Given the description of an element on the screen output the (x, y) to click on. 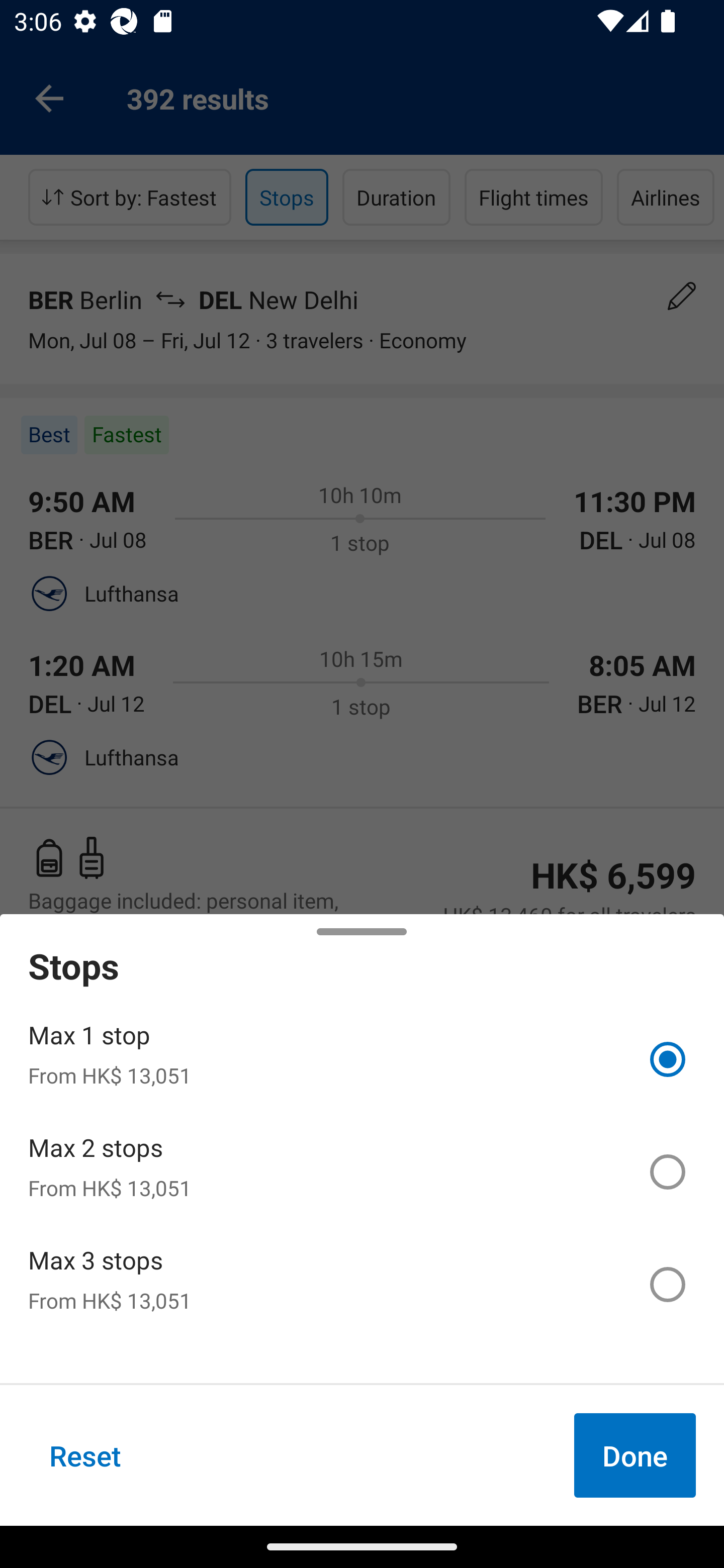
Max 1 stop From HK$ 13,051 (362, 1059)
Max 2 stops From HK$ 13,051 (362, 1171)
Max 3 stops From HK$ 13,051 (362, 1283)
Reset (85, 1454)
Done (634, 1454)
